Given the description of an element on the screen output the (x, y) to click on. 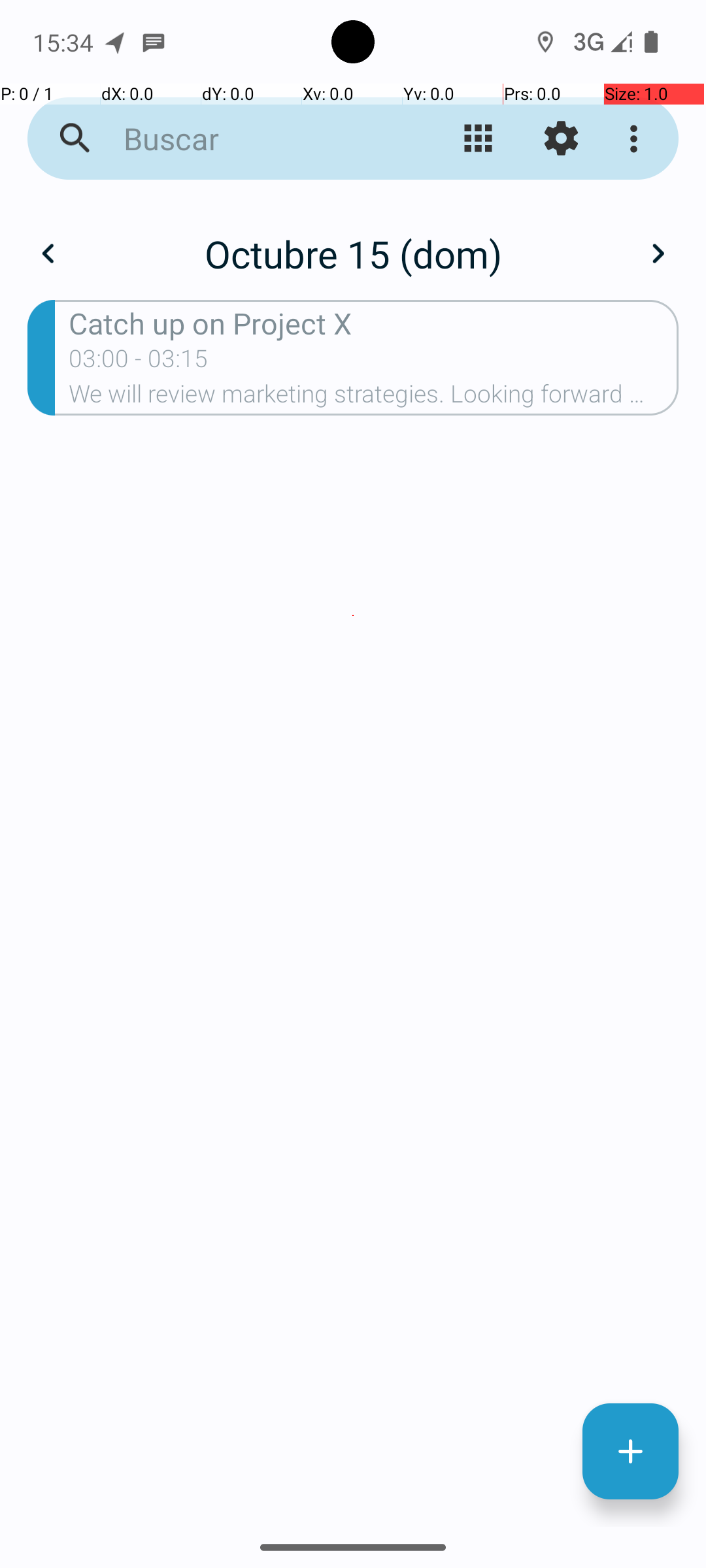
Buscar Element type: android.widget.EditText (252, 138)
Cambiar vista Element type: android.widget.Button (477, 138)
Ajustes Element type: android.widget.Button (560, 138)
Más opciones Element type: android.widget.ImageView (636, 138)
Nuevo evento Element type: android.widget.ImageButton (630, 1451)
Octubre 15 (dom) Element type: android.widget.TextView (352, 253)
Catch up on Project X Element type: android.widget.TextView (373, 321)
03:00 - 03:15 Element type: android.widget.TextView (137, 362)
We will review marketing strategies. Looking forward to productive discussions. Element type: android.widget.TextView (373, 397)
